Given the description of an element on the screen output the (x, y) to click on. 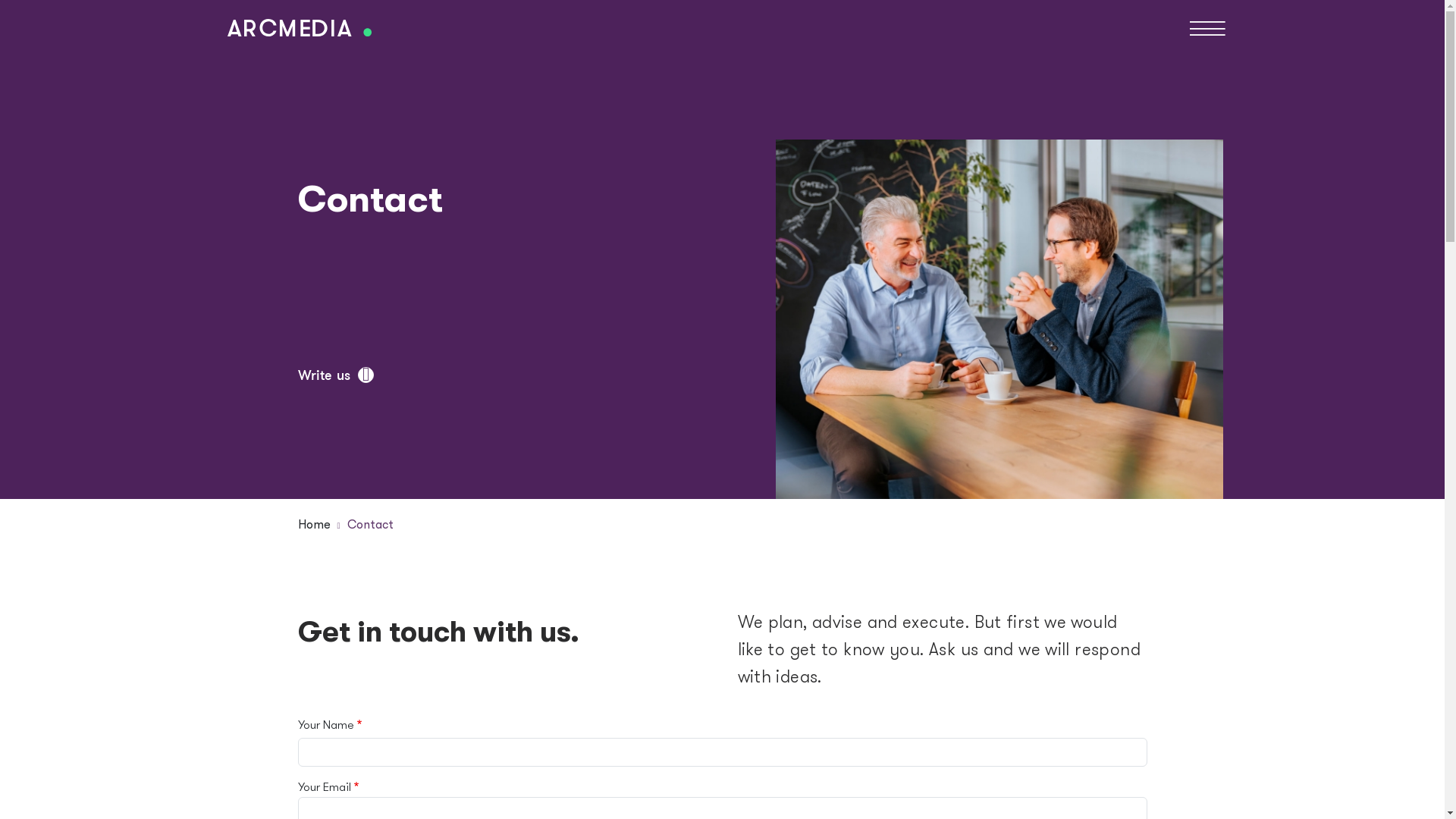
Home Element type: hover (299, 27)
Home Element type: text (313, 523)
Write us Element type: text (335, 375)
